Given the description of an element on the screen output the (x, y) to click on. 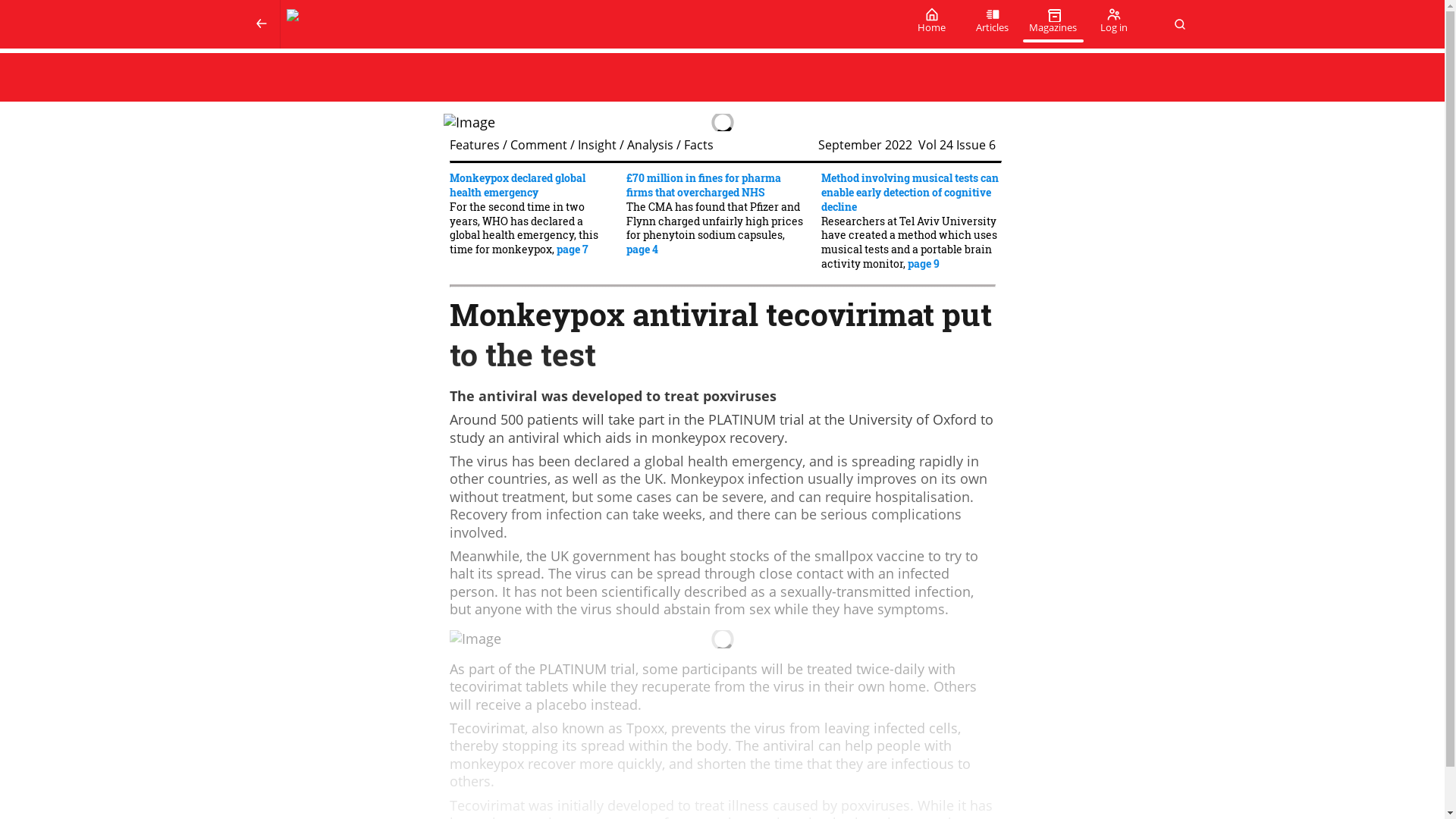
page 9 (923, 263)
Log in (1112, 24)
Home (930, 24)
Search (1179, 24)
Magazines (1052, 24)
page 7 (572, 248)
page 4 (642, 248)
Articles (991, 24)
